Given the description of an element on the screen output the (x, y) to click on. 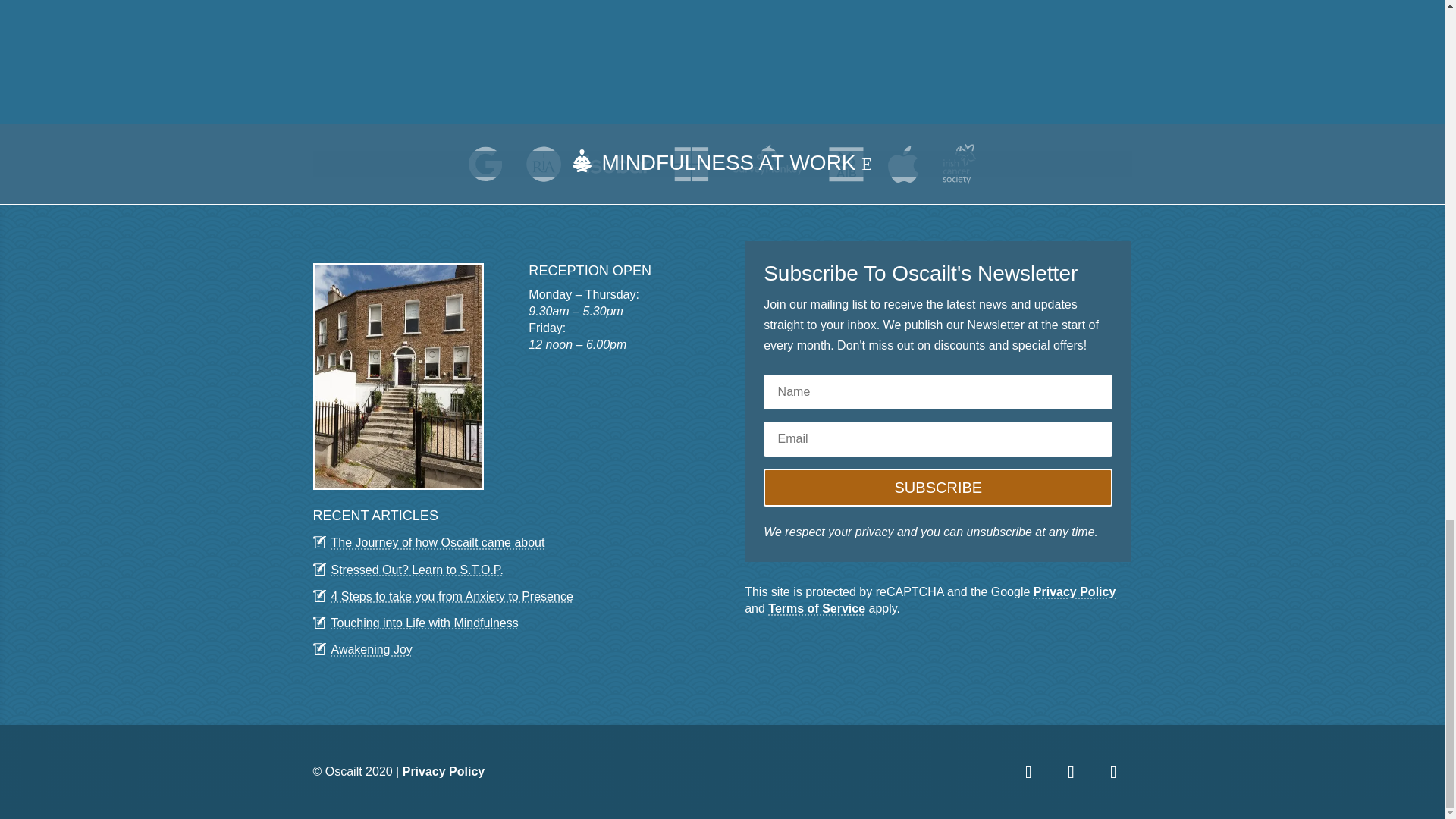
Follow on Facebook (1028, 771)
Privacy Policy (443, 771)
Touching into Life with Mindfulness (424, 622)
Stressed Out? Learn to S.T.O.P. (416, 569)
SUBSCRIBE (937, 487)
Touching into Life with Mindfulness (424, 622)
Awakening Joy (371, 649)
The Journey of how Oscailt came about (437, 542)
Follow on X (1070, 771)
Awakening Joy (371, 649)
